Given the description of an element on the screen output the (x, y) to click on. 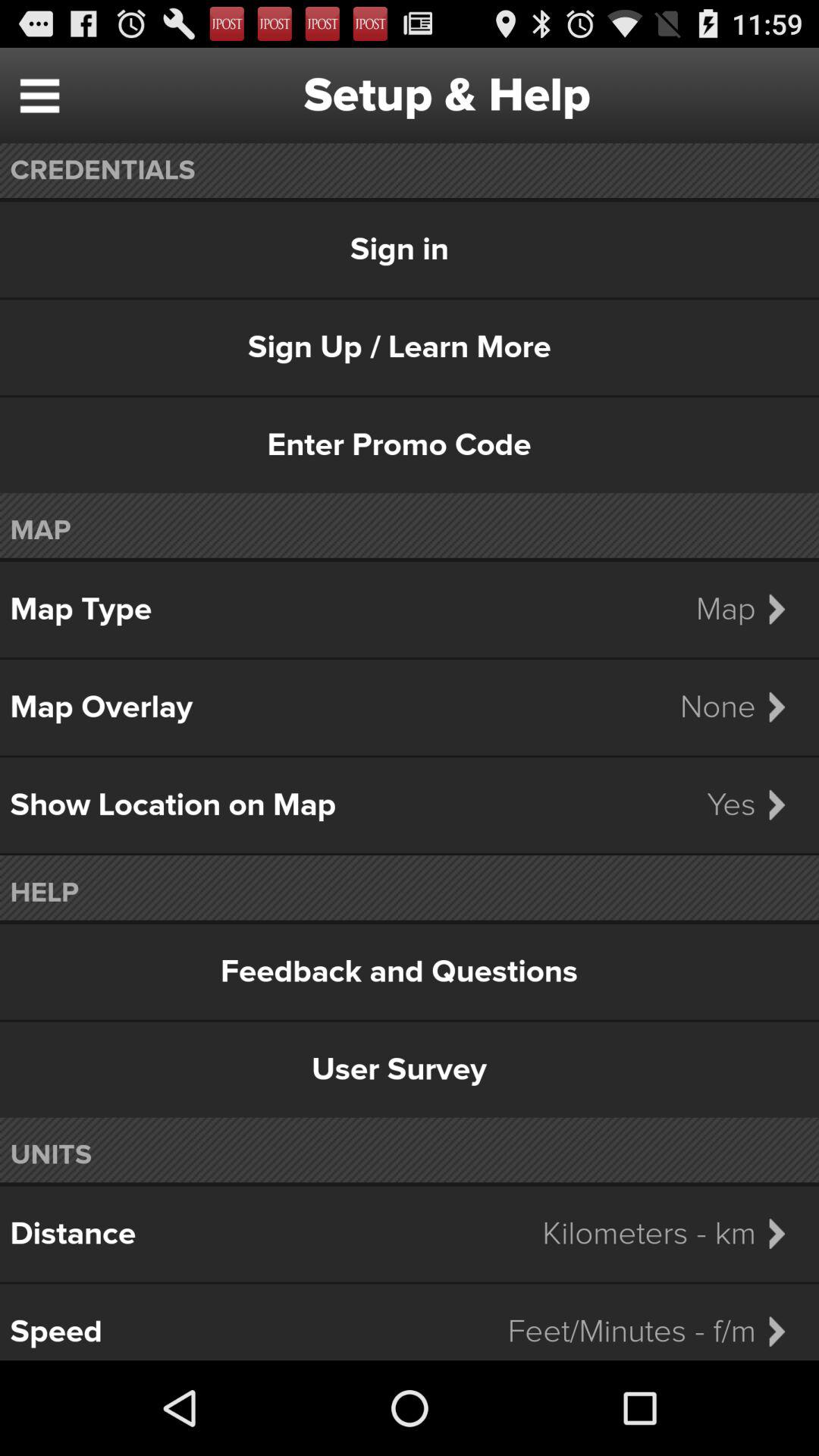
select the item next to setup & help item (39, 95)
